Given the description of an element on the screen output the (x, y) to click on. 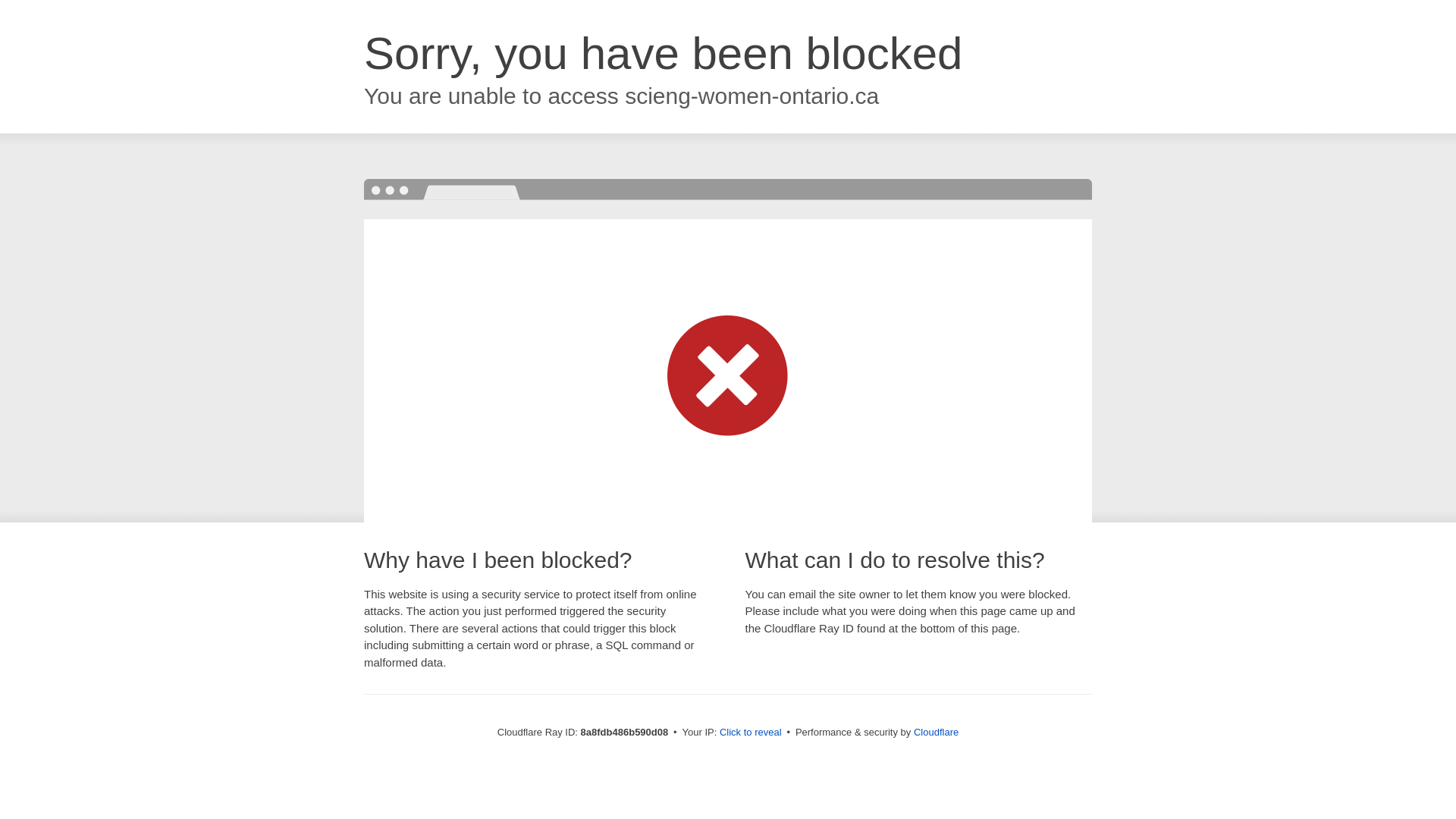
Click to reveal (750, 732)
Cloudflare (936, 731)
